Given the description of an element on the screen output the (x, y) to click on. 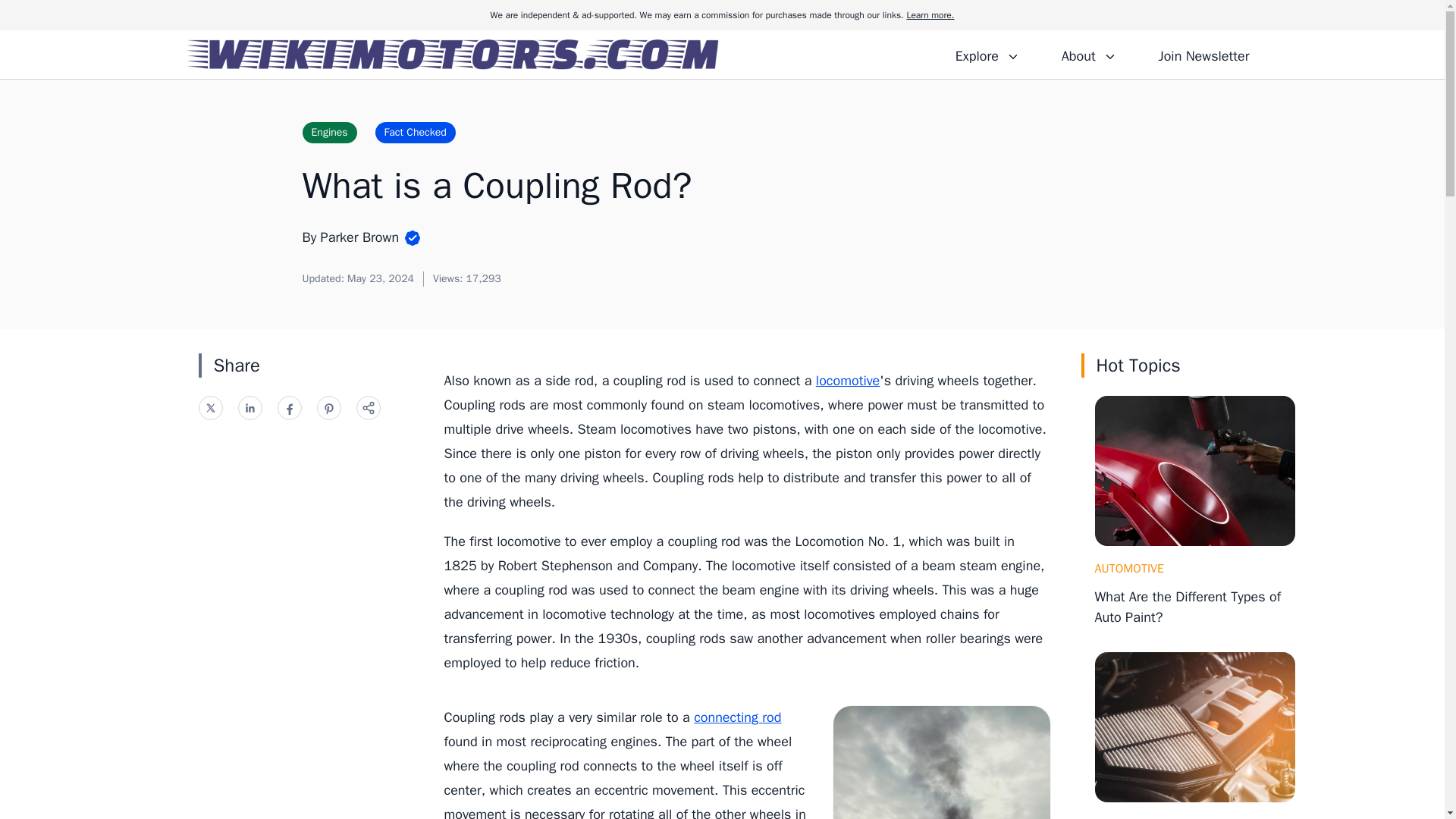
Join Newsletter (1202, 54)
locomotive (847, 380)
Explore (986, 54)
connecting rod (737, 717)
About (1088, 54)
Engines (328, 132)
Fact Checked (415, 132)
Learn more. (929, 15)
